Given the description of an element on the screen output the (x, y) to click on. 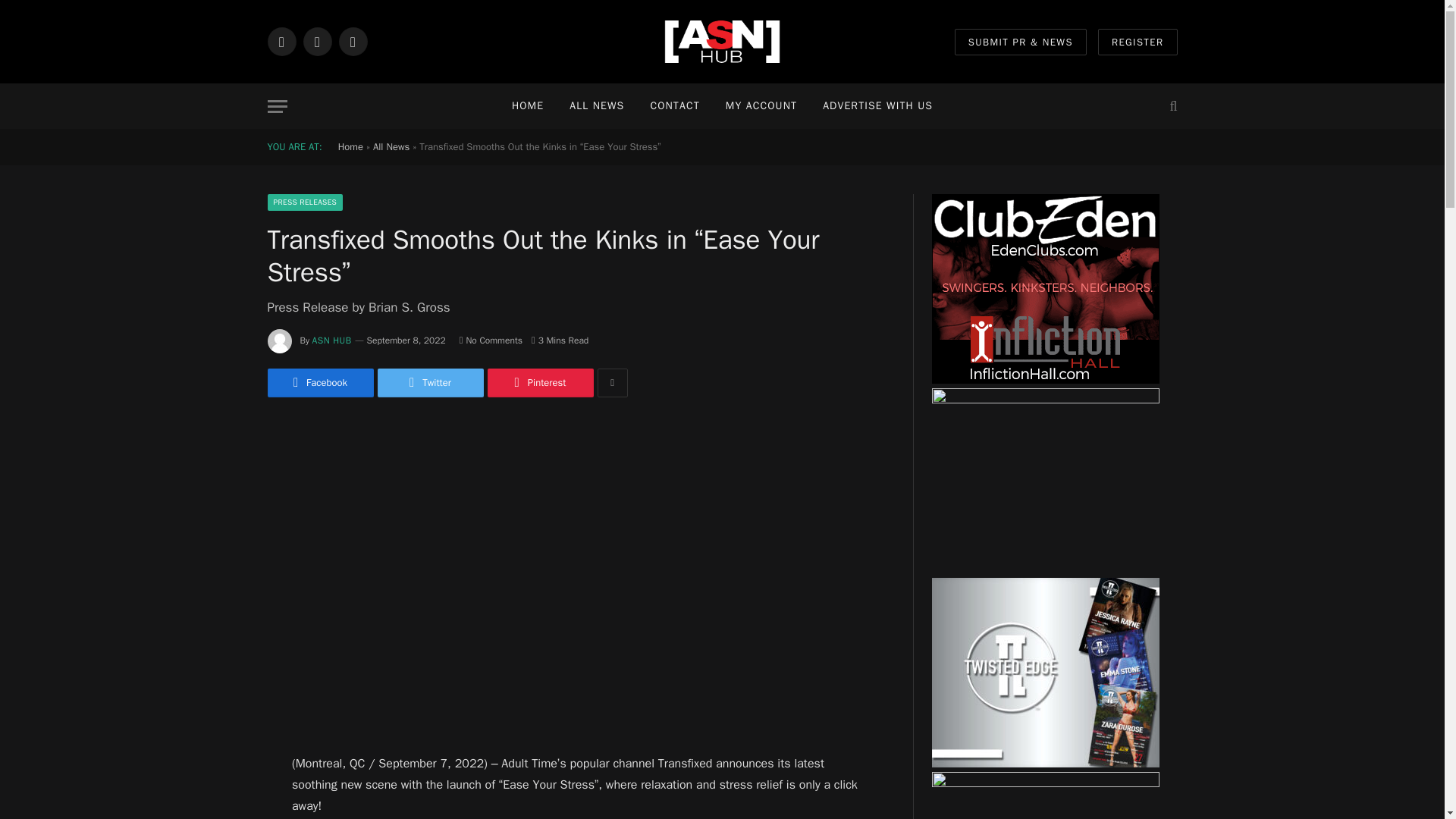
Pinterest (539, 382)
REGISTER (1137, 41)
ALL NEWS (596, 105)
All News (390, 146)
No Comments (491, 340)
ADVERTISE WITH US (876, 105)
MY ACCOUNT (761, 105)
Facebook (319, 382)
PRESS RELEASES (304, 202)
Twitter (430, 382)
Home (349, 146)
Facebook (280, 41)
ASN HUB (332, 340)
CONTACT (674, 105)
HOME (527, 105)
